Given the description of an element on the screen output the (x, y) to click on. 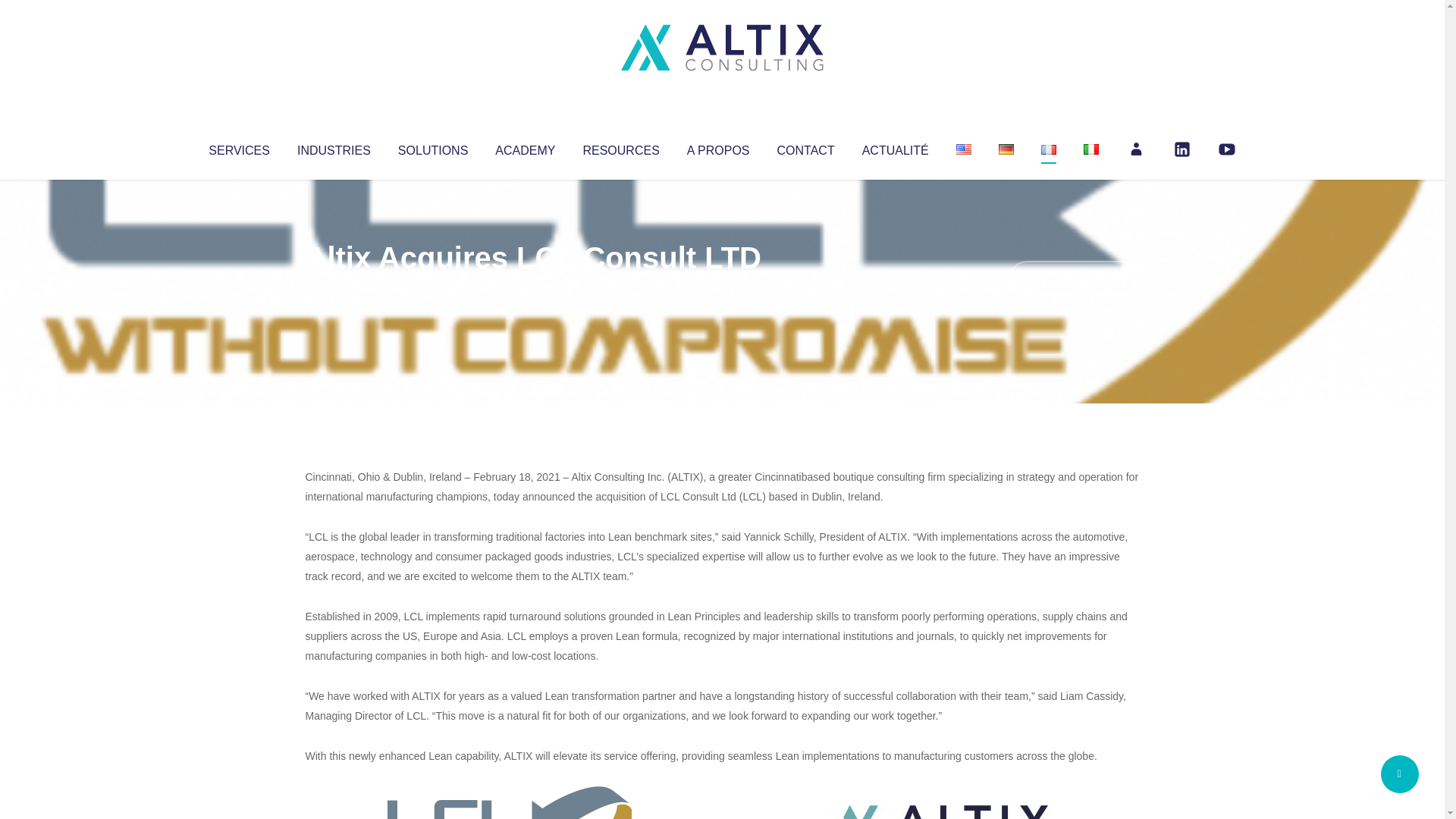
SOLUTIONS (432, 146)
A PROPOS (718, 146)
RESOURCES (620, 146)
SERVICES (238, 146)
Articles par Altix (333, 287)
Uncategorized (530, 287)
ACADEMY (524, 146)
Altix (333, 287)
INDUSTRIES (334, 146)
No Comments (1073, 278)
